Given the description of an element on the screen output the (x, y) to click on. 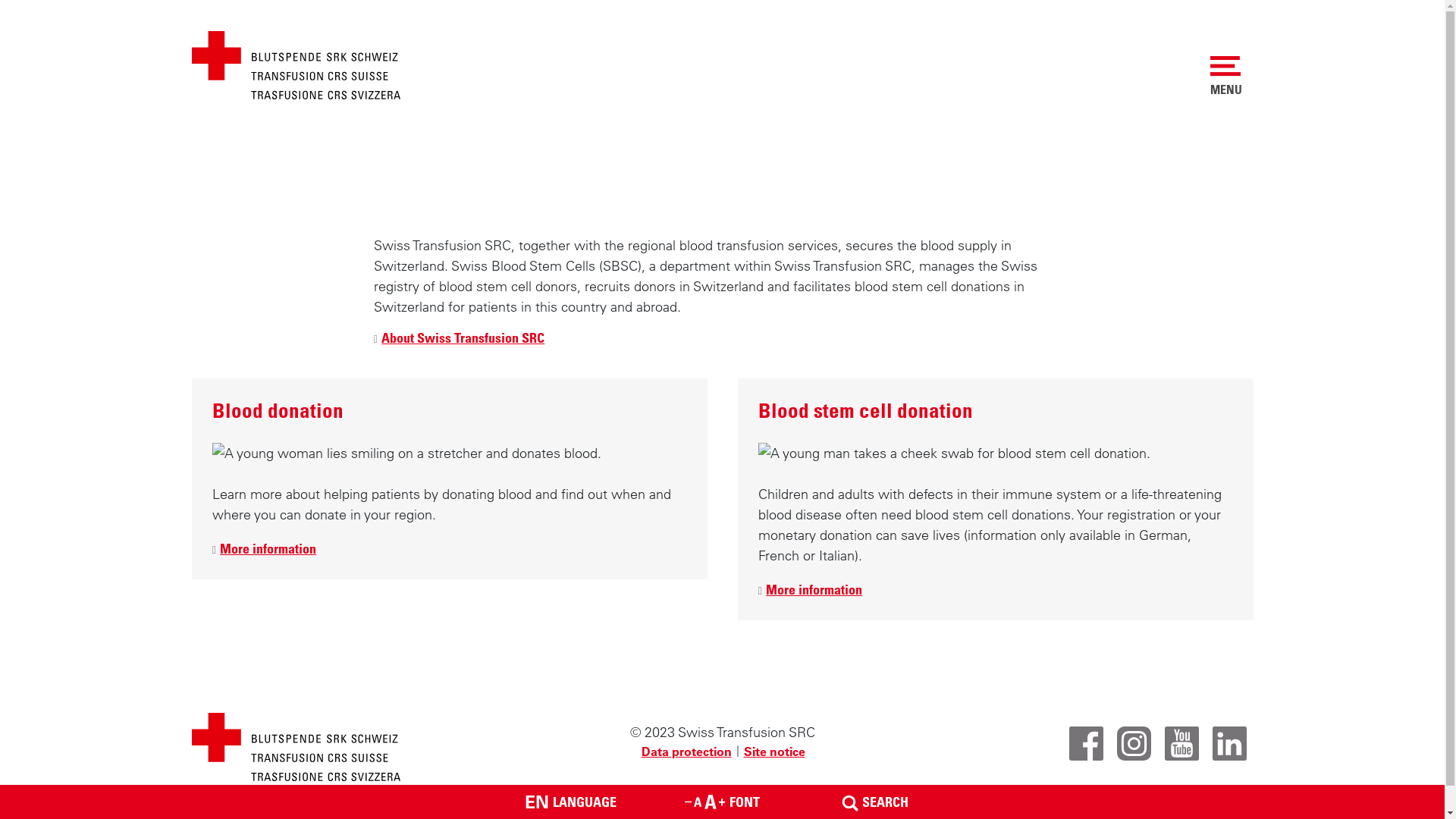
More information
about Blood donation Element type: text (264, 548)
Linkedin Element type: text (1228, 741)
Data protection Element type: text (684, 751)
Instagram Element type: text (1133, 741)
Link zur Startseite Element type: hover (295, 63)
More information
about Blood stem cell donation Element type: text (810, 589)
Skip to main content Element type: text (0, 184)
Site notice Element type: text (773, 751)
Youtube Element type: text (1181, 741)
About Swiss Transfusion SRC Element type: text (458, 337)
Facebook Element type: text (1086, 741)
MENU Element type: text (1226, 74)
Skip to main content Element type: text (0, 183)
